Given the description of an element on the screen output the (x, y) to click on. 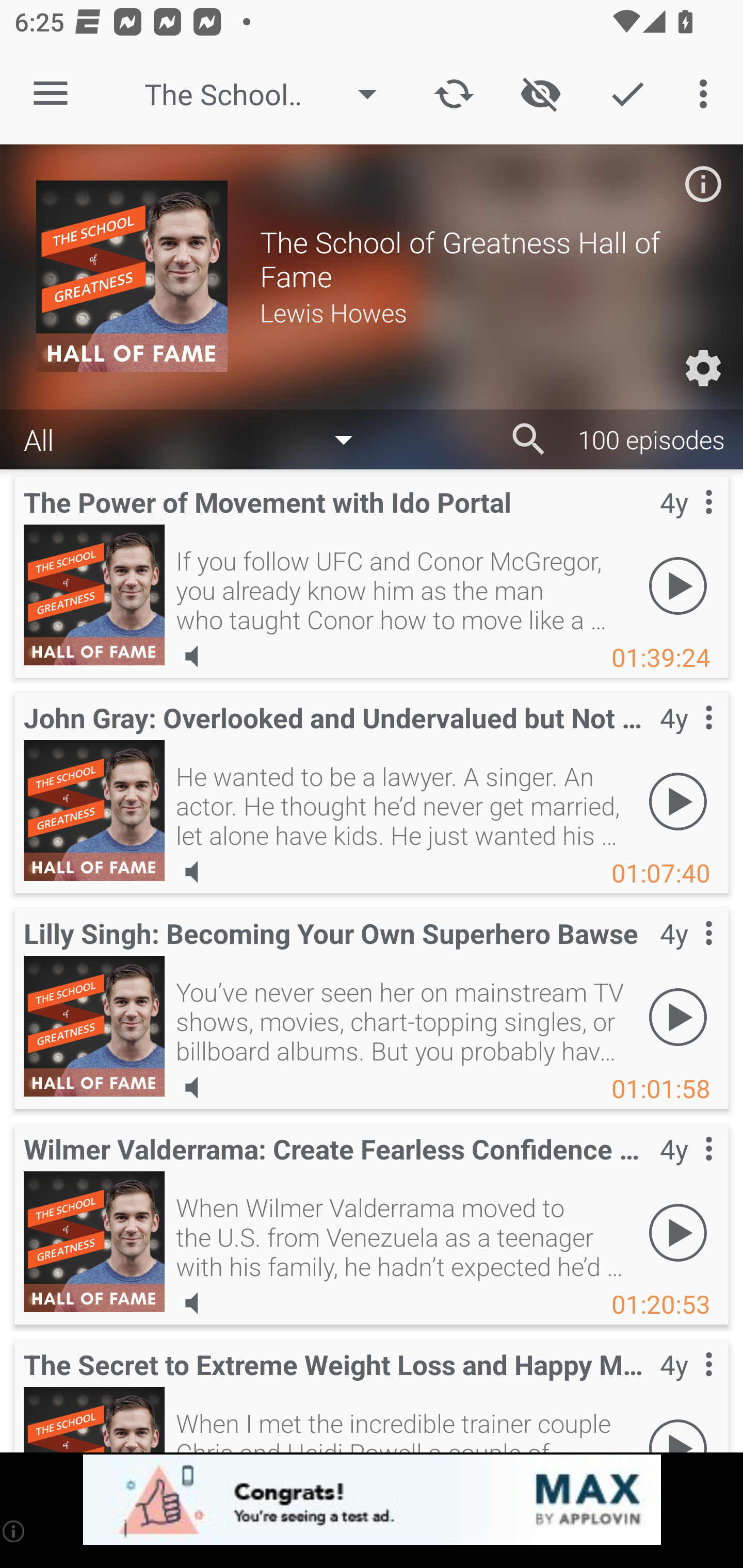
Open navigation sidebar (50, 93)
Update (453, 93)
Show / Hide played content (540, 93)
Action Mode (626, 93)
More options (706, 93)
The School of Greatness Hall of Fame (270, 94)
Podcast description (703, 184)
Lewis Howes (483, 311)
Custom Settings (703, 368)
Search (528, 439)
All (197, 438)
Contextual menu (685, 522)
The Power of Movement with Ido Portal (93, 594)
Play (677, 585)
Contextual menu (685, 738)
Play (677, 801)
Contextual menu (685, 954)
Lilly Singh: Becoming Your Own Superhero Bawse (93, 1026)
Play (677, 1016)
Contextual menu (685, 1169)
Play (677, 1232)
Contextual menu (685, 1385)
app-monetization (371, 1500)
(i) (14, 1531)
